Given the description of an element on the screen output the (x, y) to click on. 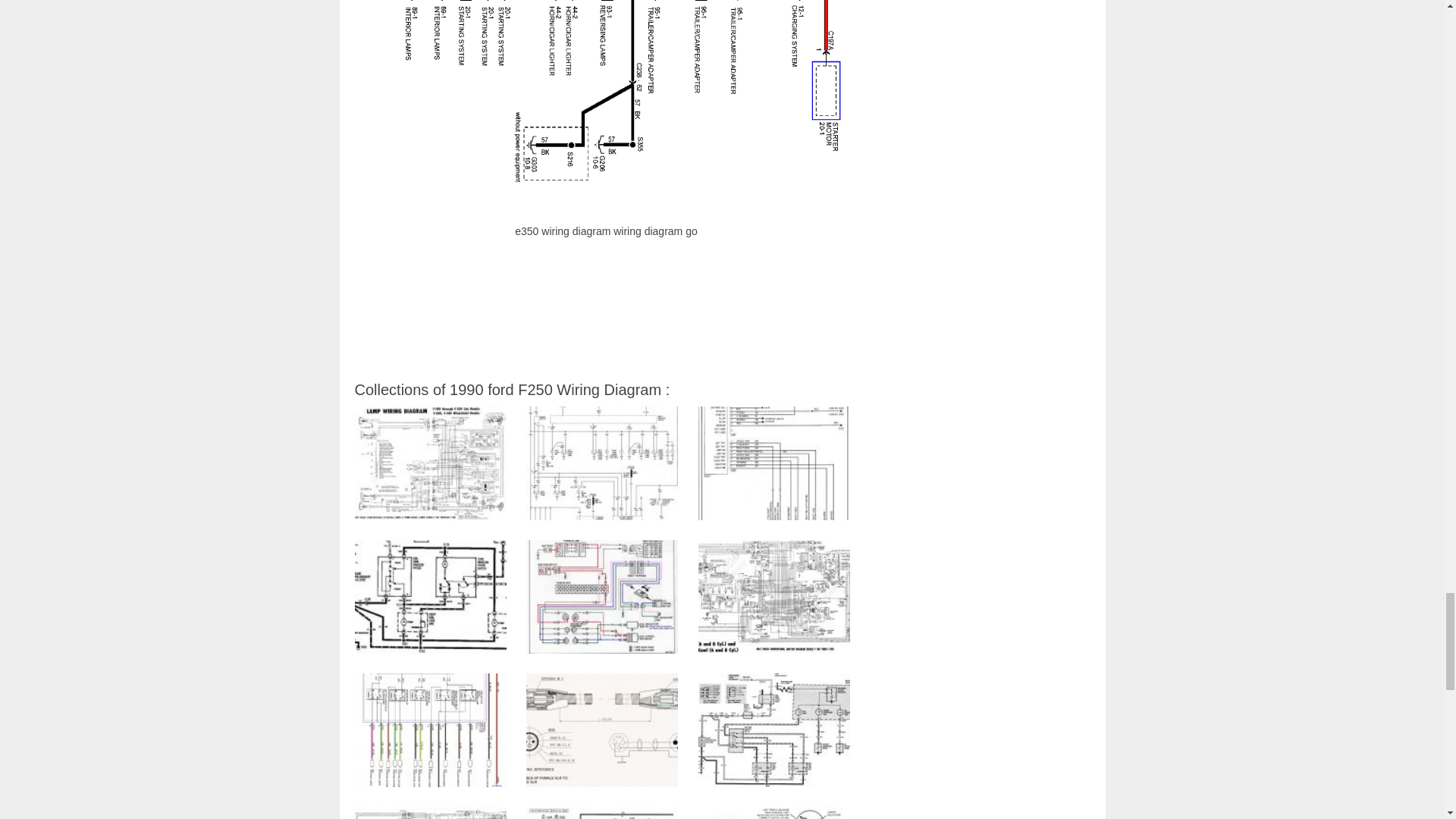
e350 wiring diagram wiring diagram go (607, 106)
